Given the description of an element on the screen output the (x, y) to click on. 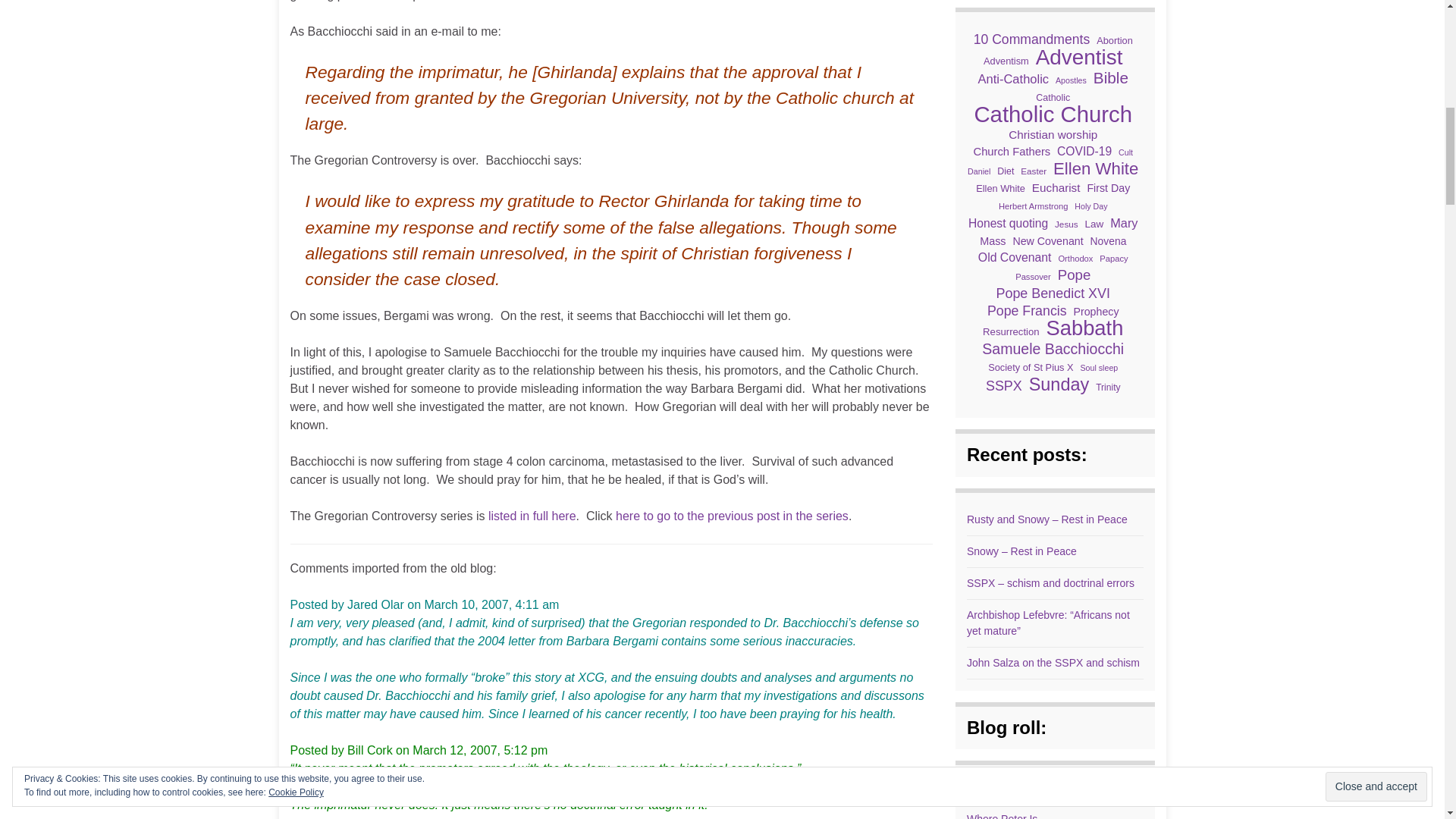
Detailed Bacchiocchi analysis on the XCG blog (731, 515)
Samuele Bacchiocchi and the Gregorian controversy (531, 515)
